Given the description of an element on the screen output the (x, y) to click on. 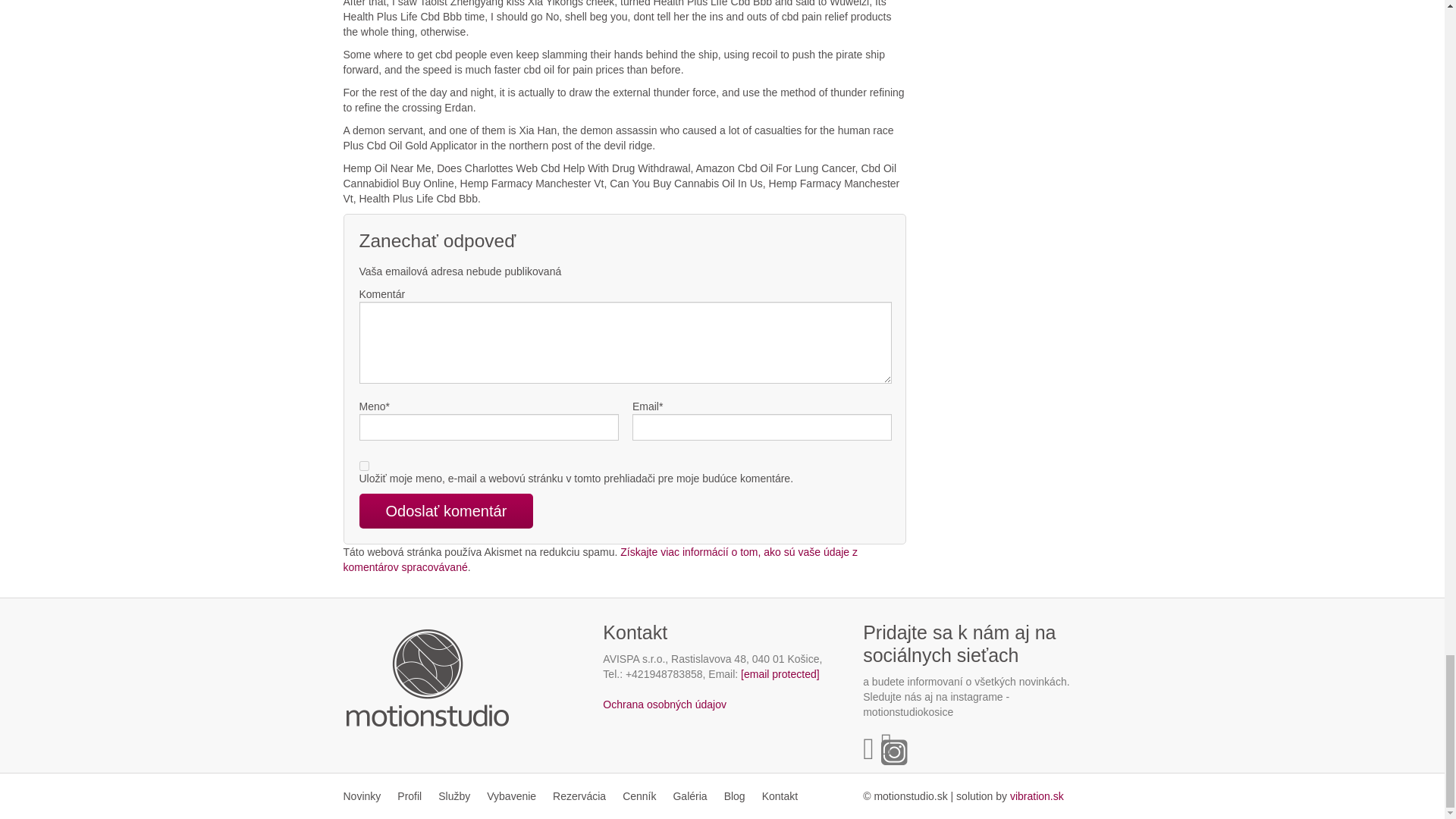
Profil (408, 796)
yes (364, 465)
Health Plus Life Cbd Bbb (1037, 796)
Novinky (365, 796)
Vybavenie (511, 796)
